Given the description of an element on the screen output the (x, y) to click on. 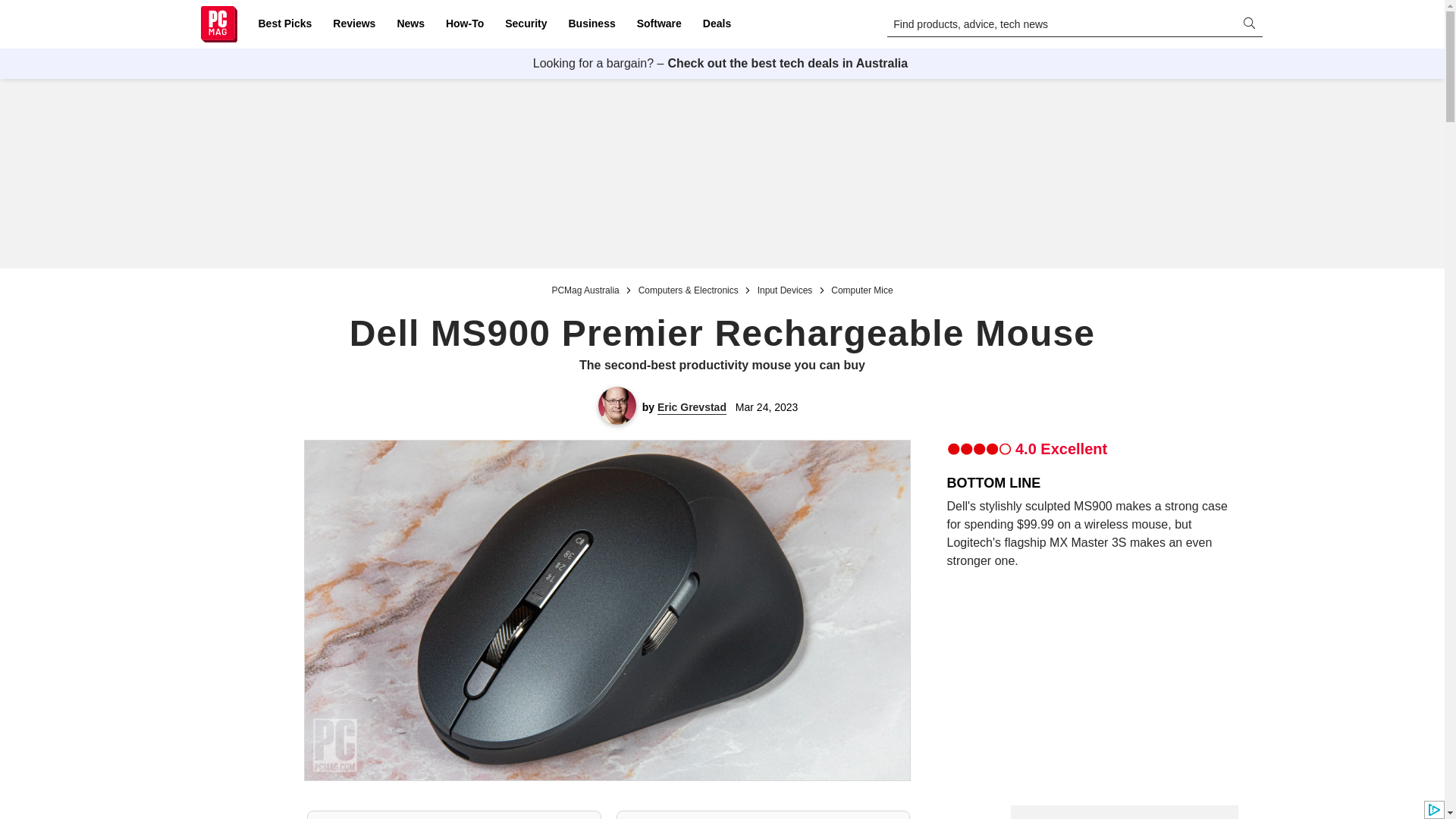
How-To (464, 24)
Security (526, 24)
Business (591, 24)
Reviews (353, 24)
Best Picks (284, 24)
